Given the description of an element on the screen output the (x, y) to click on. 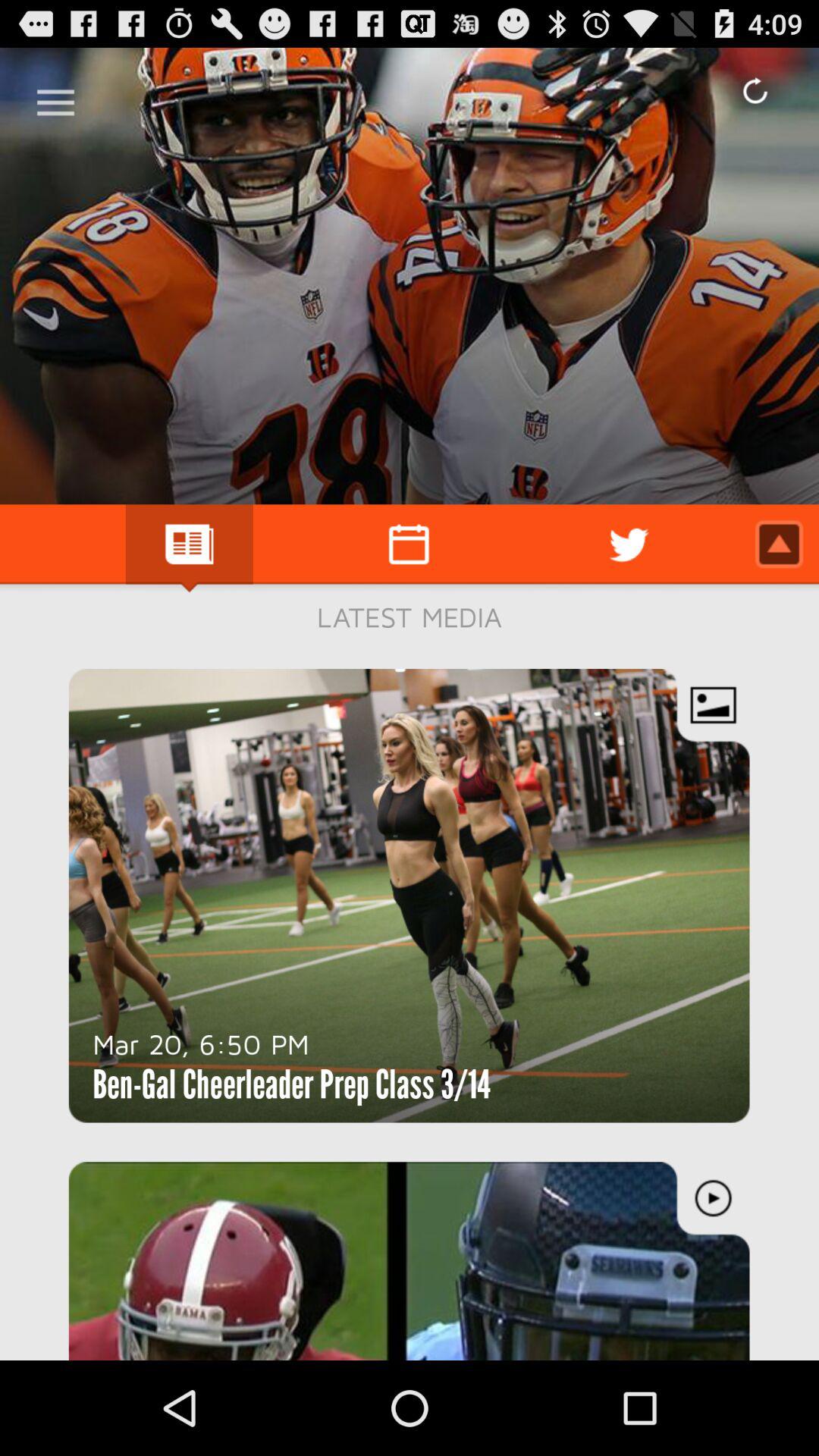
tap the icon below mar 20 6 icon (291, 1084)
